Given the description of an element on the screen output the (x, y) to click on. 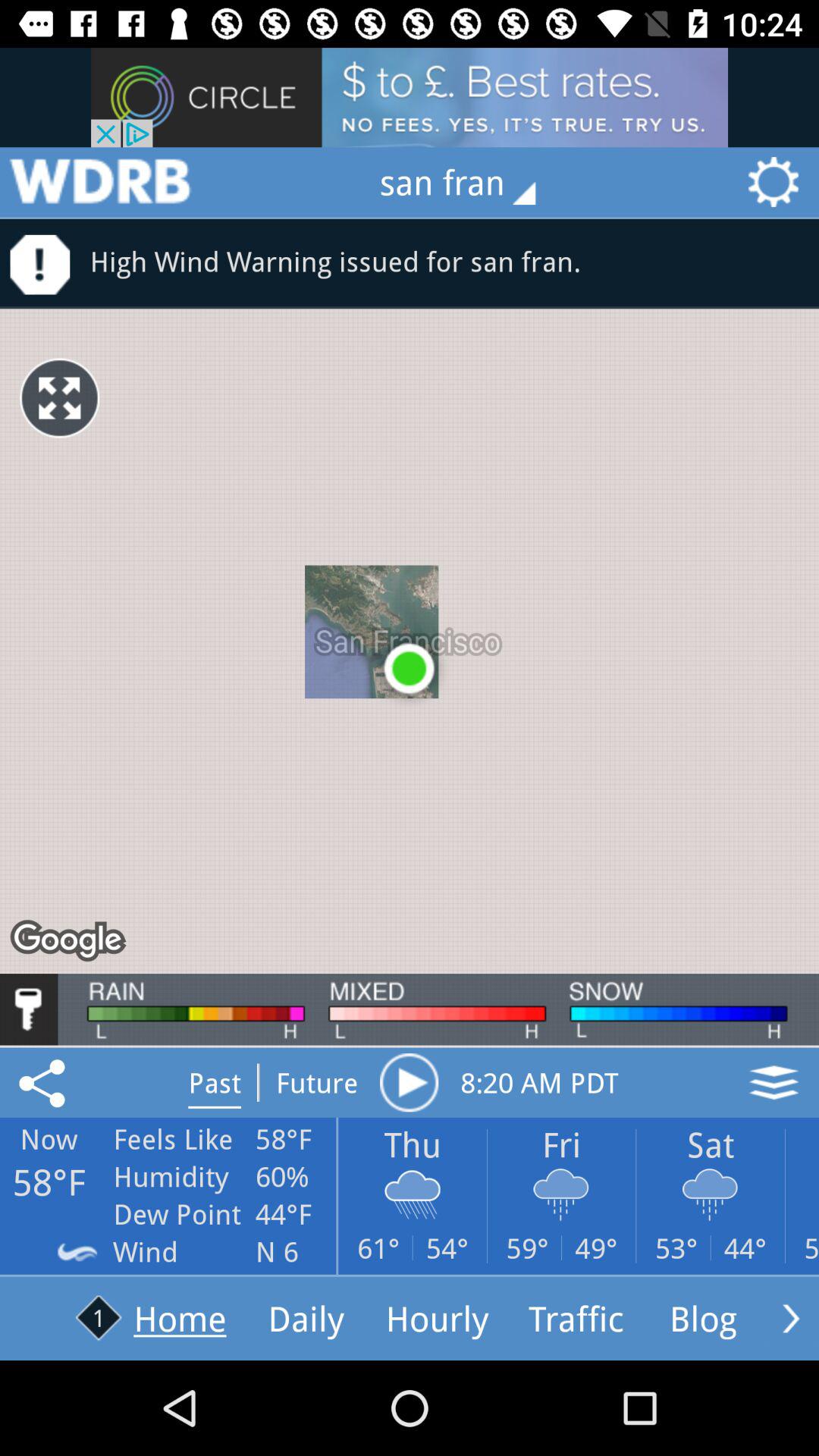
unlock contents (29, 1009)
